Given the description of an element on the screen output the (x, y) to click on. 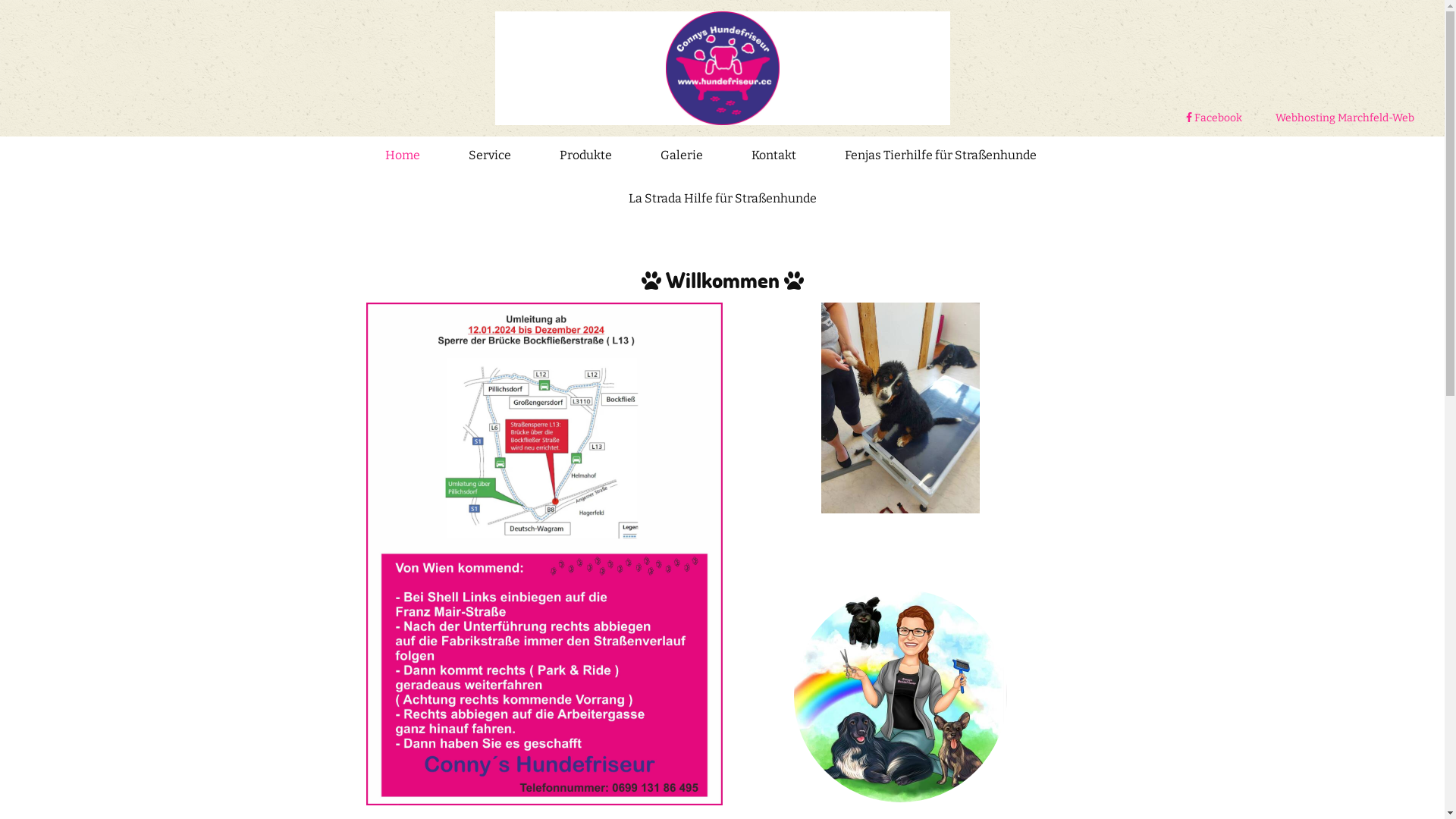
Webhosting Marchfeld-Web Element type: text (1344, 118)
Kontakt Element type: text (773, 157)
Facebook Element type: text (1213, 118)
Produkte Element type: text (585, 157)
Galerie Element type: text (681, 157)
Service Element type: text (489, 157)
Home Element type: text (402, 157)
